Given the description of an element on the screen output the (x, y) to click on. 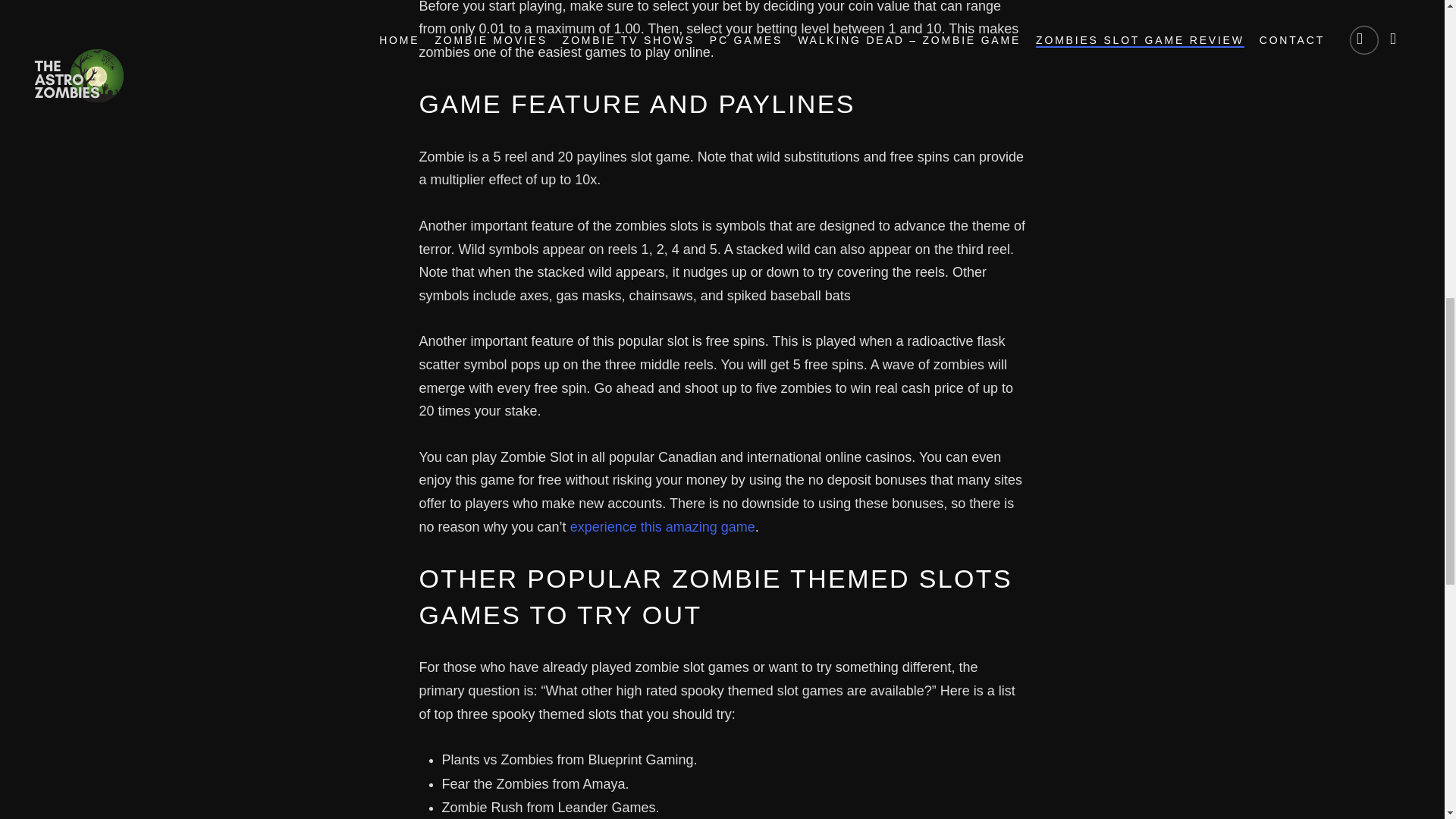
experience this amazing game (662, 526)
